Given the description of an element on the screen output the (x, y) to click on. 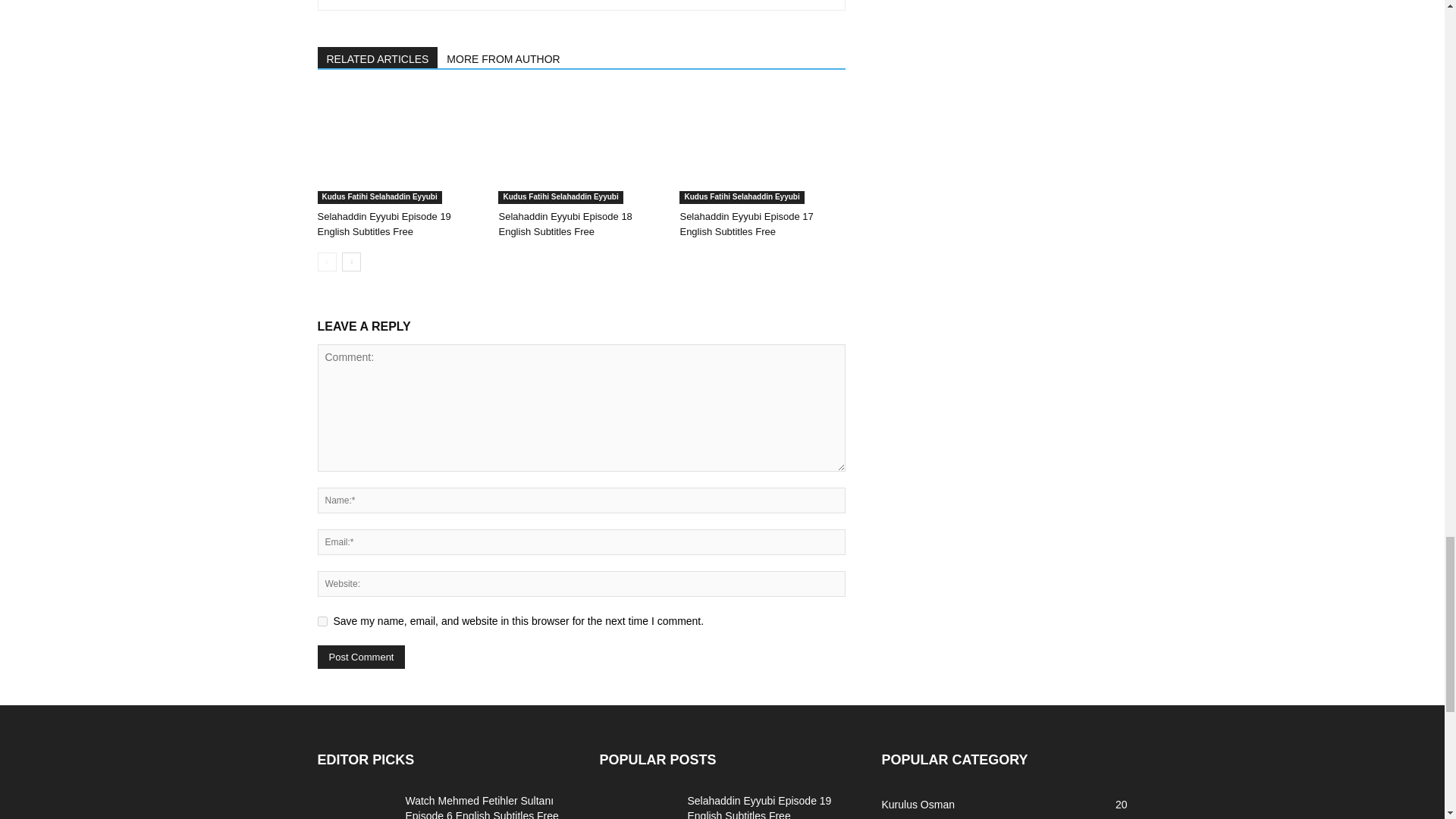
Post Comment (360, 657)
yes (321, 621)
